Given the description of an element on the screen output the (x, y) to click on. 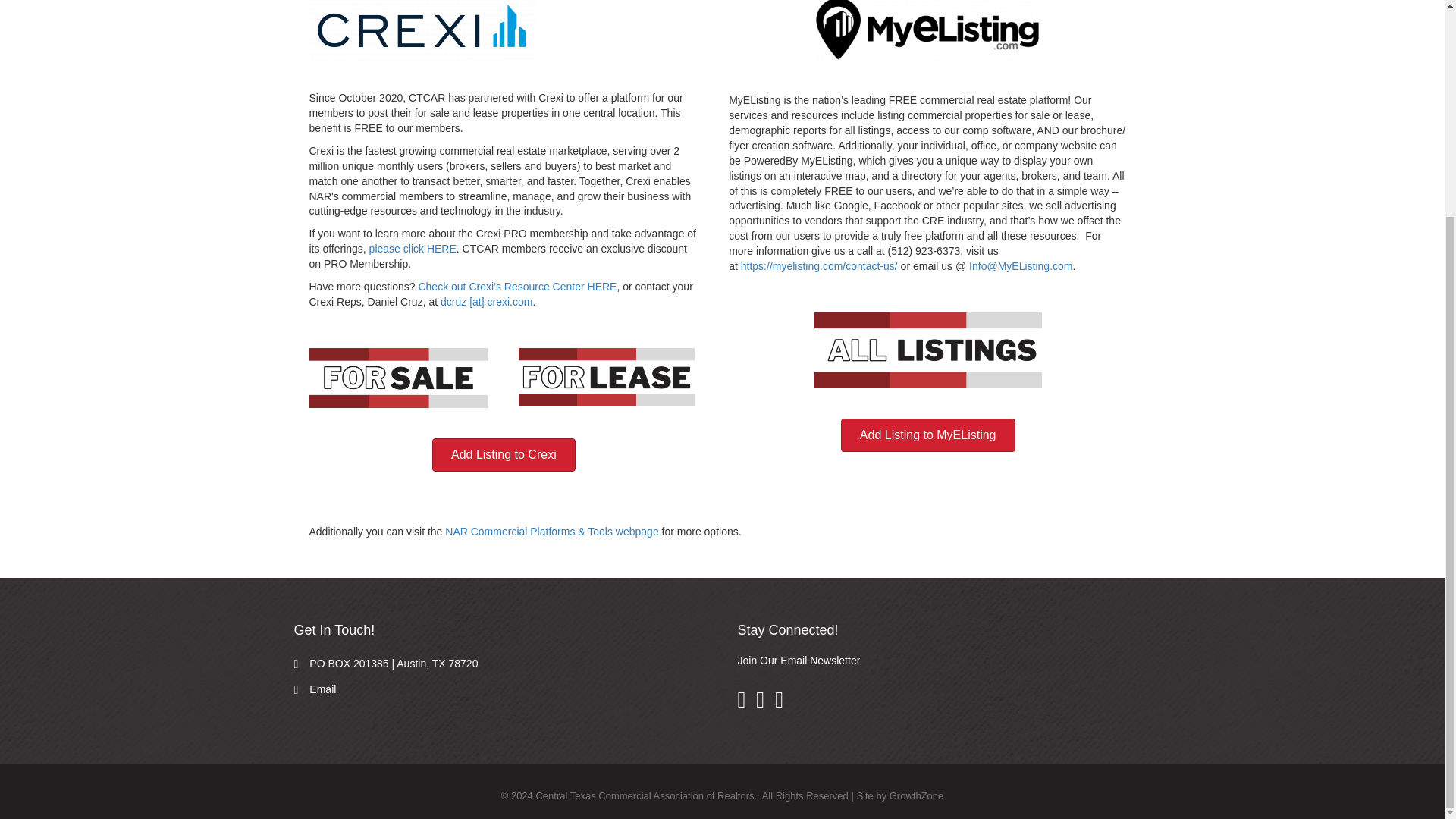
crexi logo navy copy (422, 30)
MyElistings button (927, 350)
myelisting (927, 31)
